Given the description of an element on the screen output the (x, y) to click on. 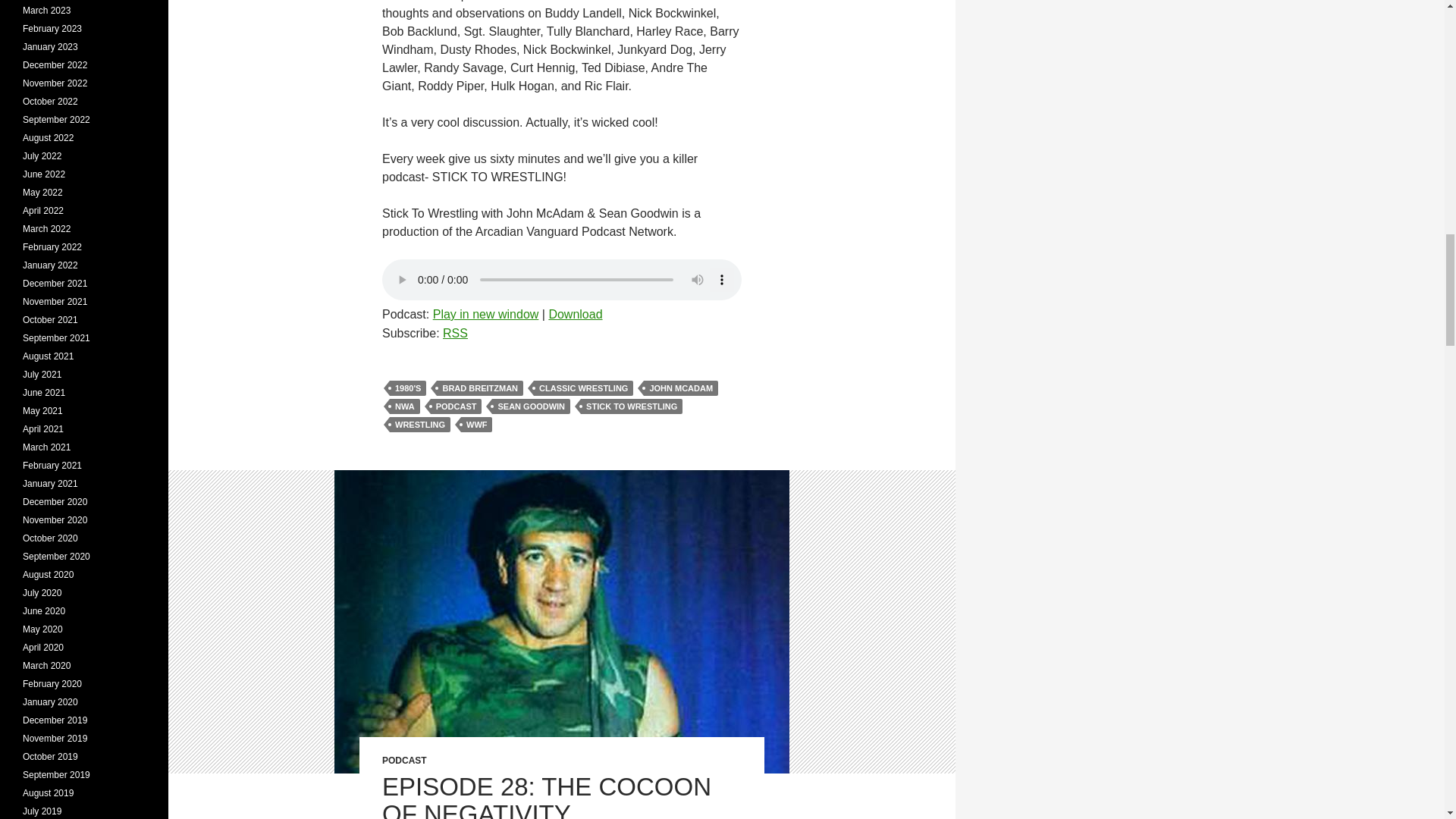
NWA (405, 406)
PODCAST (455, 406)
SEAN GOODWIN (531, 406)
Play in new window (485, 314)
STICK TO WRESTLING (631, 406)
WRESTLING (419, 424)
Play in new window (485, 314)
RSS (454, 332)
EPISODE 28: THE COCOON OF NEGATIVITY (546, 796)
Subscribe via RSS (454, 332)
BRAD BREITZMAN (479, 387)
Download (575, 314)
PODCAST (403, 760)
JOHN MCADAM (680, 387)
Download (575, 314)
